Given the description of an element on the screen output the (x, y) to click on. 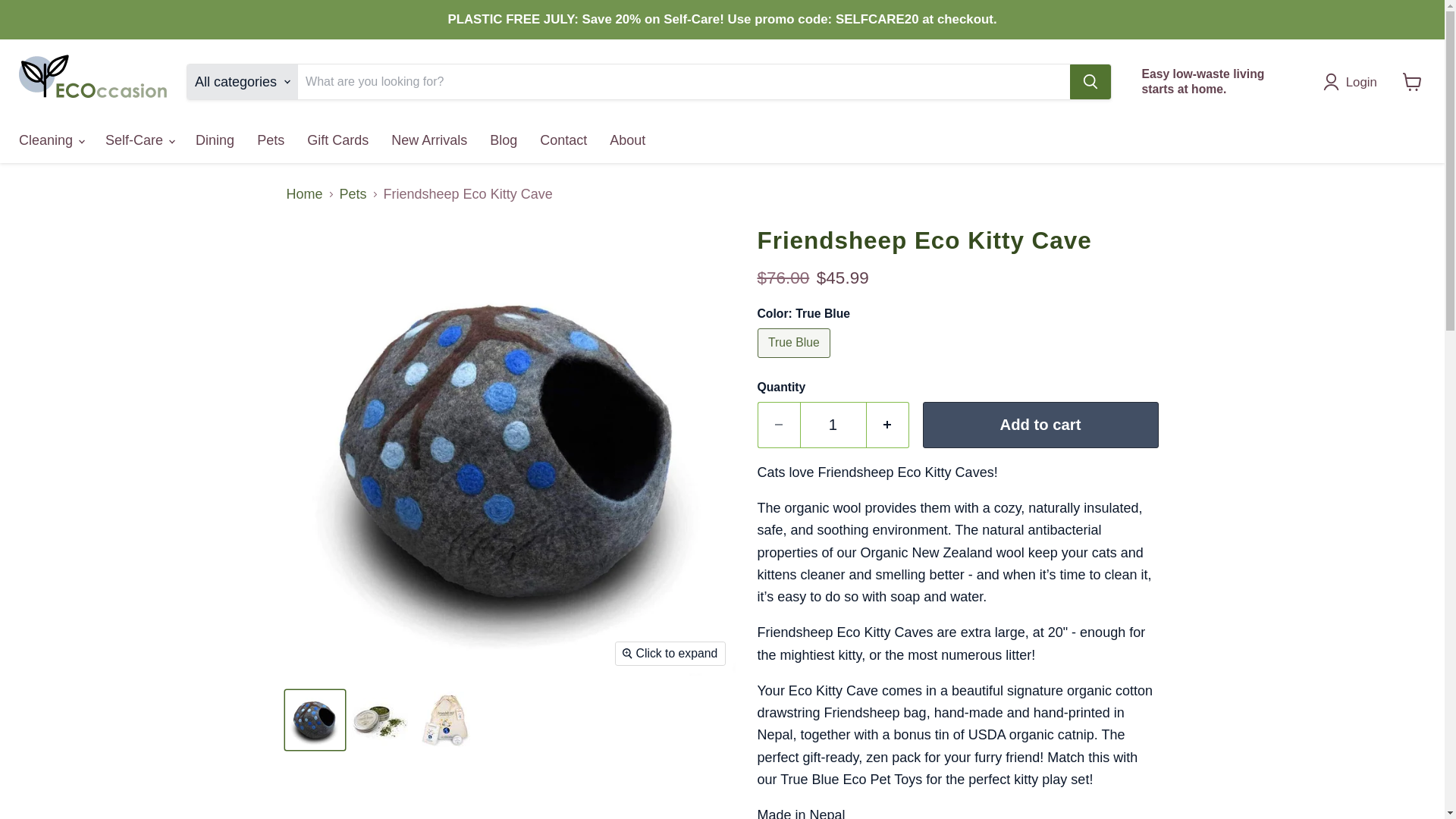
View cart (1411, 81)
Login (1353, 81)
Blog (503, 140)
Pets (270, 140)
Gift Cards (337, 140)
1 (832, 424)
New Arrivals (429, 140)
About (627, 140)
Contact (563, 140)
Dining (215, 140)
